Given the description of an element on the screen output the (x, y) to click on. 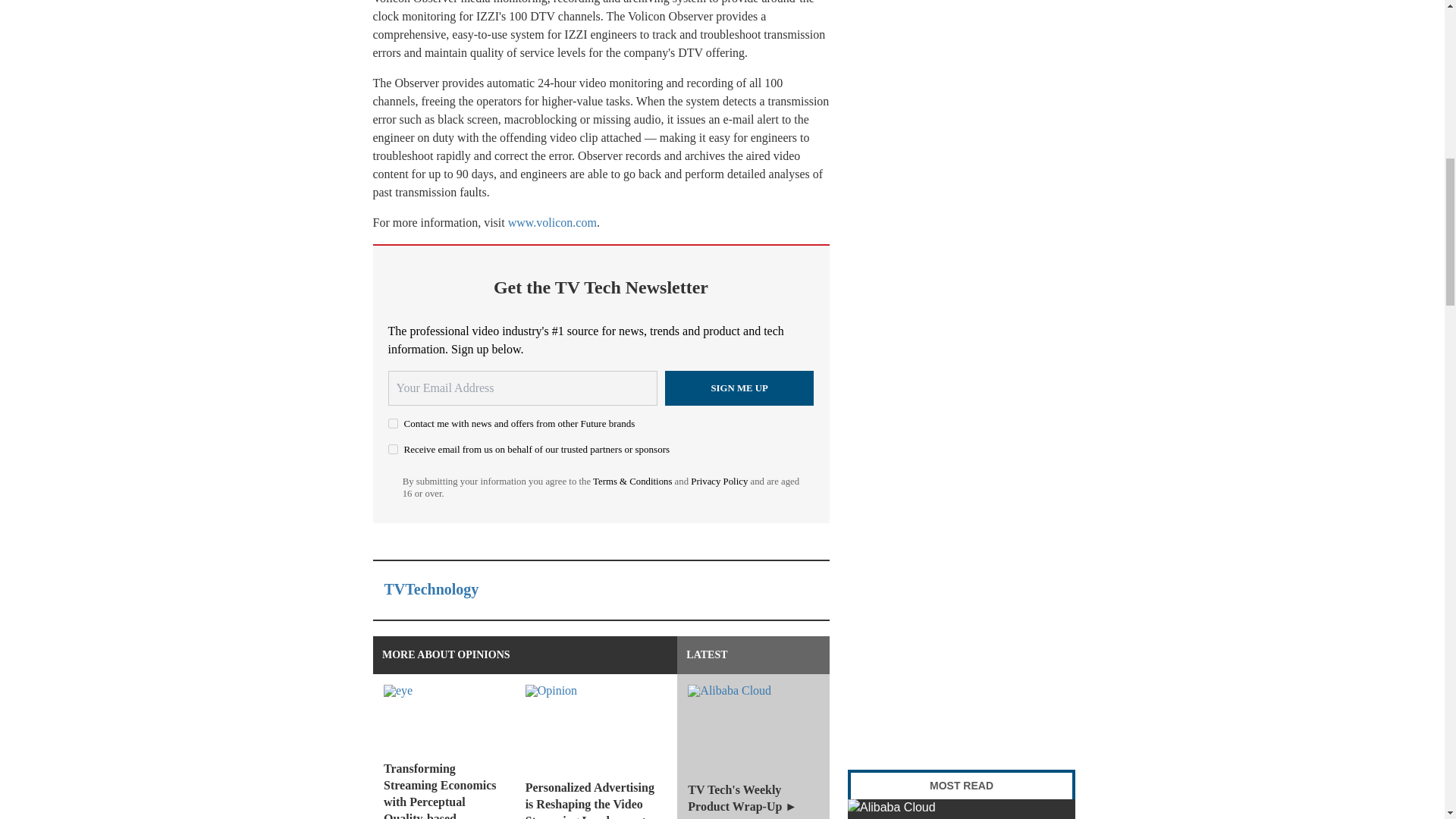
on (392, 449)
TVTechnology (431, 588)
Sign me up (739, 388)
www.volicon.com (552, 222)
on (392, 423)
Sign me up (739, 388)
TV Tech's Weekly Product Wrap-Up  (961, 809)
Privacy Policy (719, 480)
TV Tech's Weekly Product Wrap-Up (753, 746)
